Given the description of an element on the screen output the (x, y) to click on. 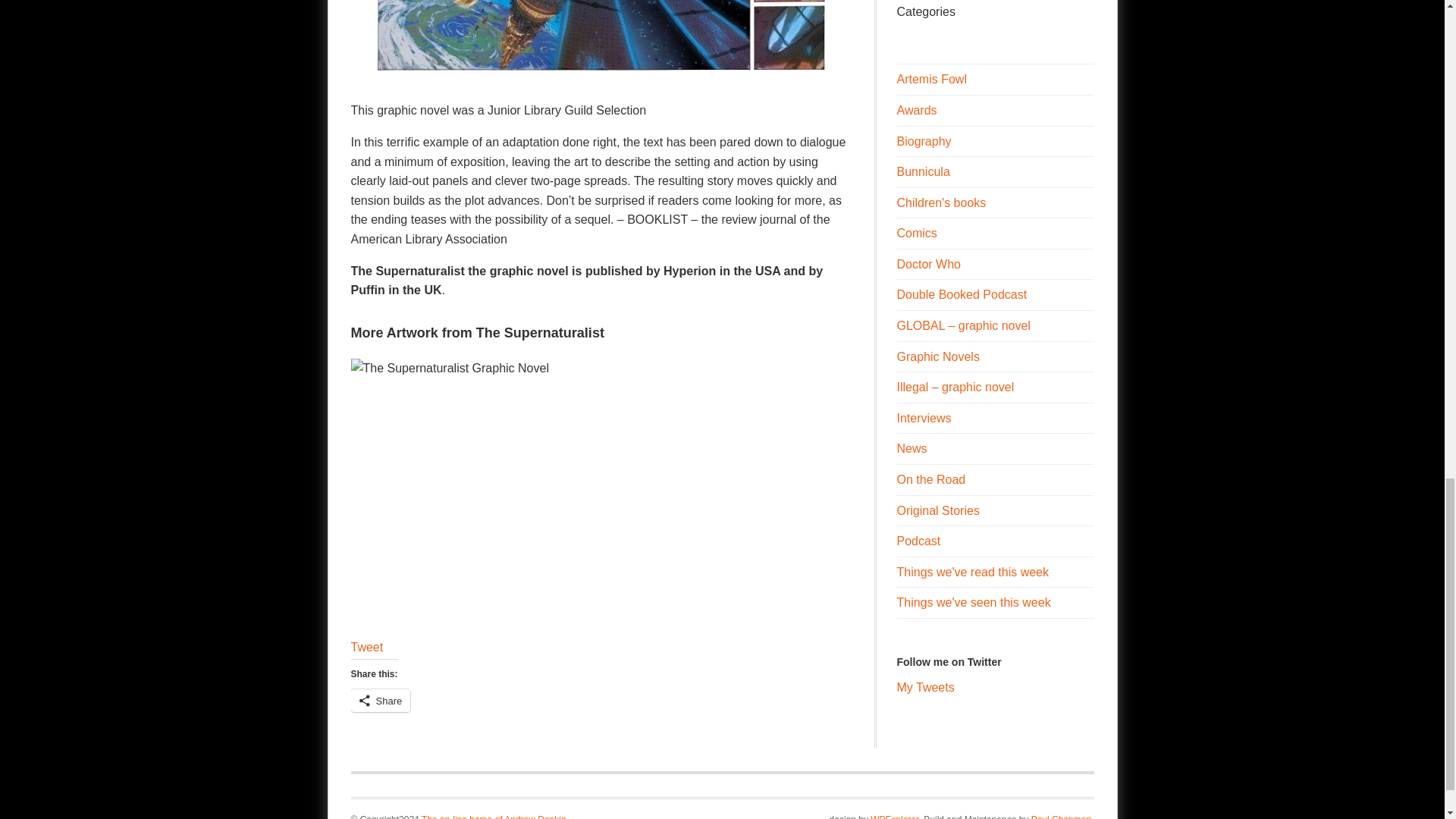
Double Booked Podcast (961, 294)
Doctor Who (927, 264)
Graphic Novels (937, 356)
Share (380, 699)
Biography (923, 141)
Awards (916, 110)
Bunnicula (922, 171)
Children's books (940, 202)
Artemis Fowl (931, 78)
Comics (916, 232)
Tweet (366, 646)
